Given the description of an element on the screen output the (x, y) to click on. 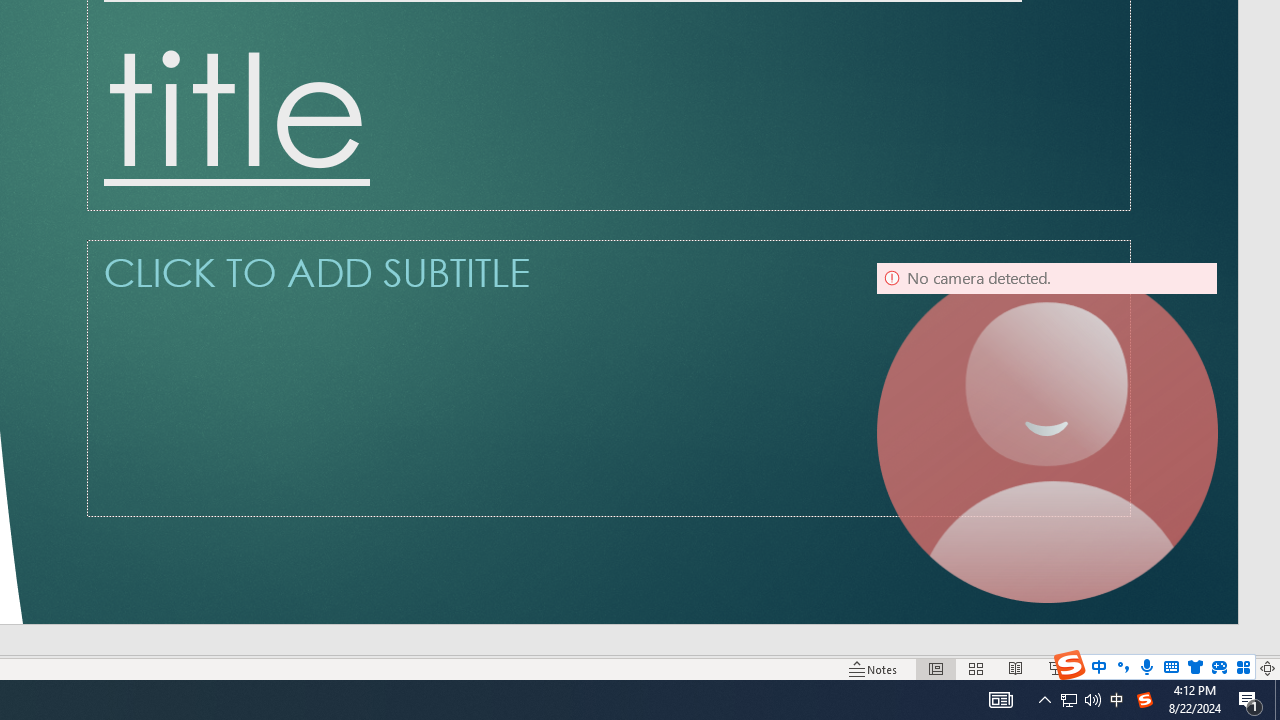
Zoom 161% (1234, 668)
